Given the description of an element on the screen output the (x, y) to click on. 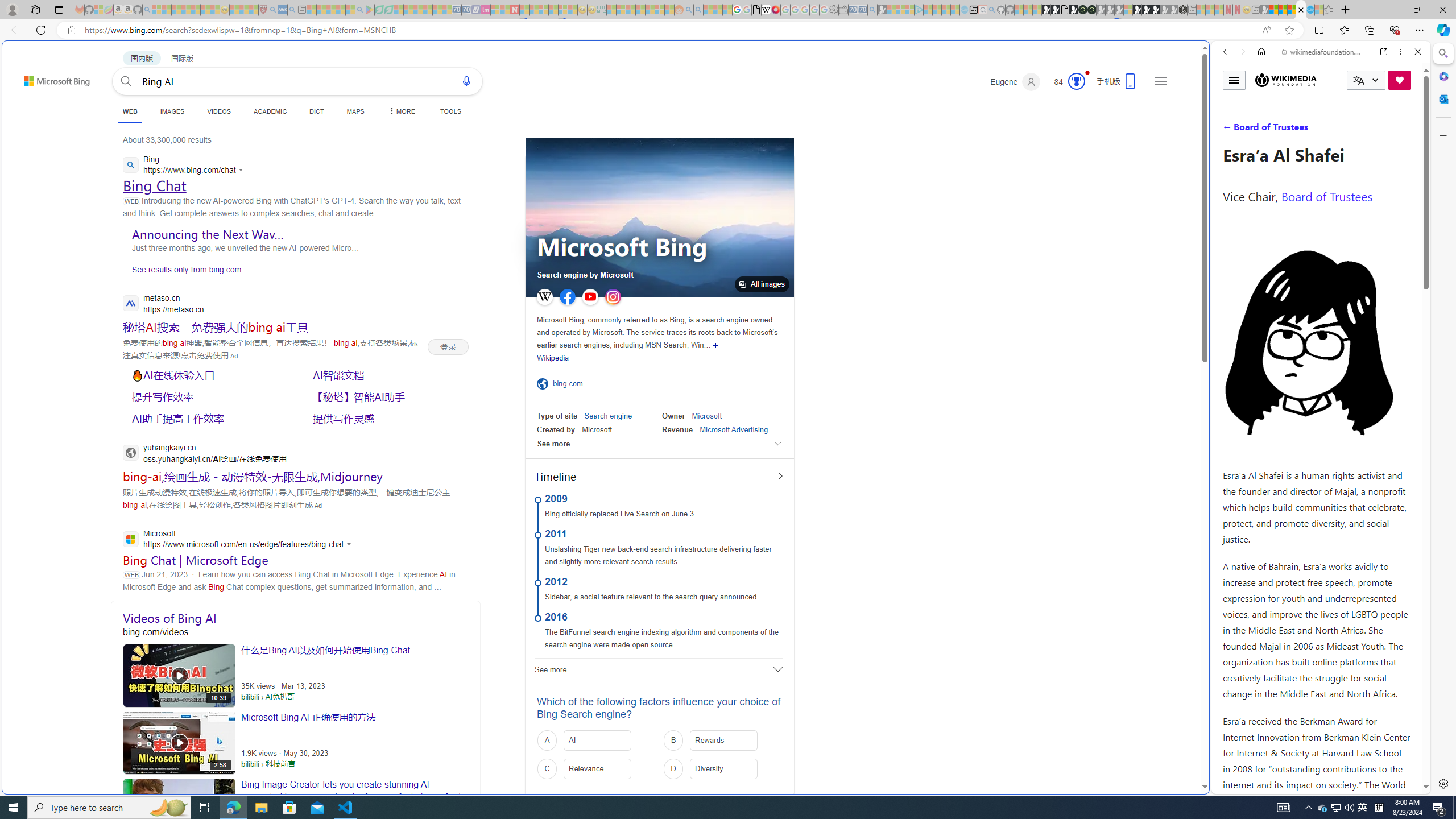
MSNBC - MSN - Sleeping (611, 9)
Search Filter, VIDEOS (1300, 129)
Terms of Use Agreement - Sleeping (378, 9)
MAPS (355, 111)
Wikimedia Foundation (1286, 79)
AutomationID: rh_meter (1076, 80)
ACADEMIC (269, 111)
